Given the description of an element on the screen output the (x, y) to click on. 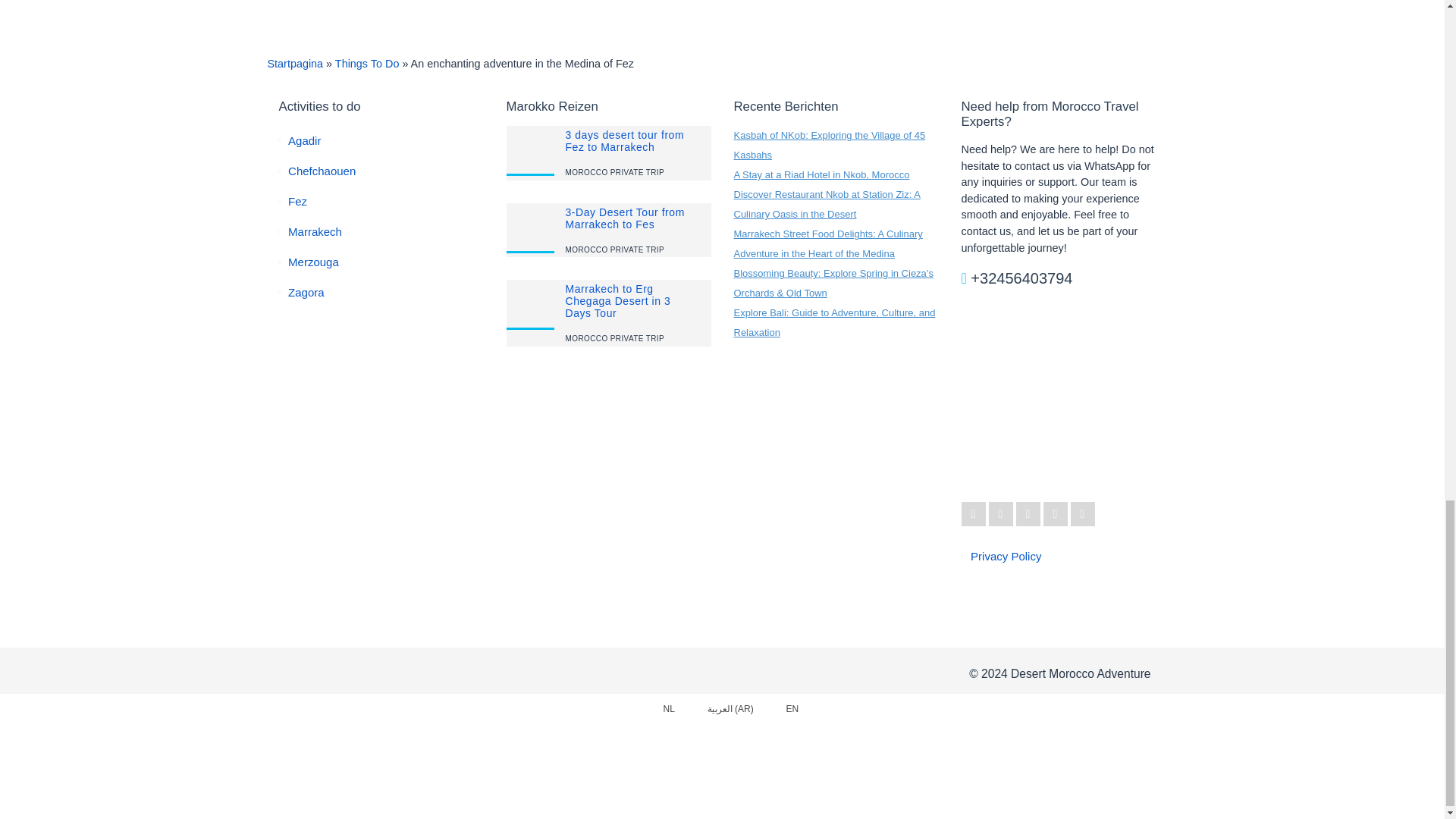
Things To Do (366, 63)
Startpagina (294, 63)
3 days desert tour from Fez to Marrakech (625, 140)
Merzouga (313, 261)
Fez (297, 201)
3-Day Desert Tour from Marrakech to Fes (625, 218)
twitter (972, 514)
Chefchaouen (321, 170)
Advertisement (1063, 395)
Marrakech (315, 231)
